Given the description of an element on the screen output the (x, y) to click on. 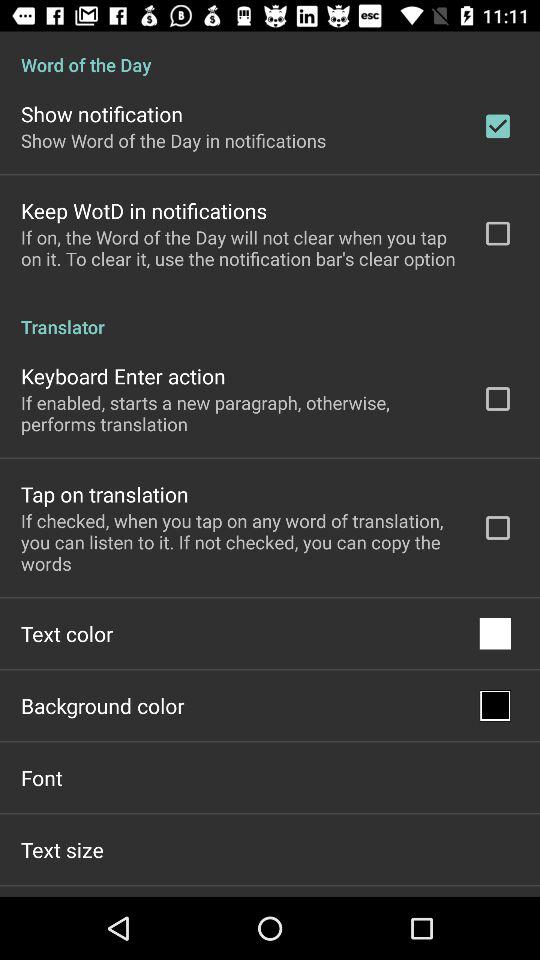
select icon above the if enabled starts app (123, 375)
